Given the description of an element on the screen output the (x, y) to click on. 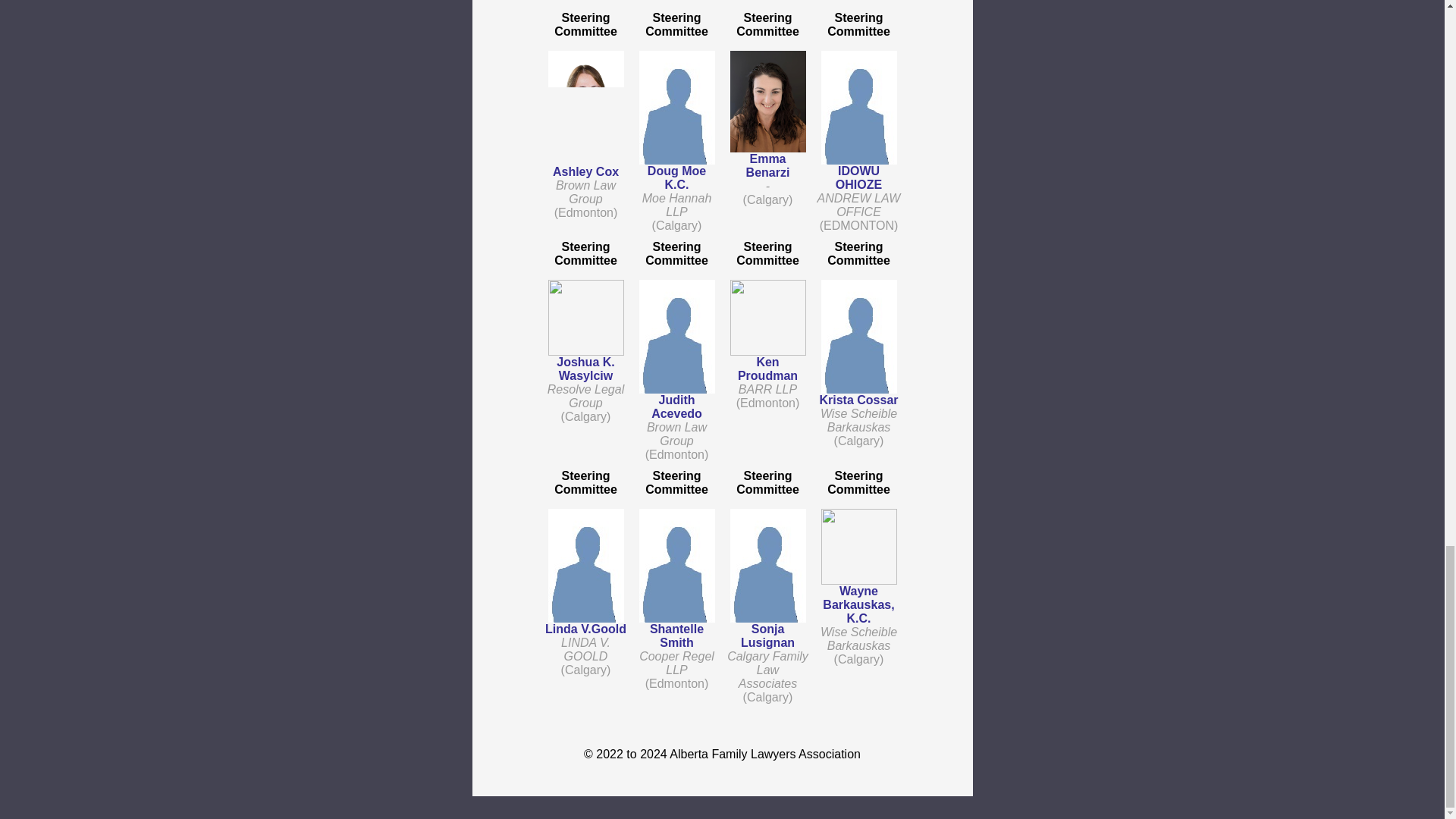
Judith Acevedo (675, 406)
IDOWU OHIOZE (858, 177)
Shantelle Smith (676, 635)
Sonja Lusignan (767, 635)
Ken Proudman (767, 368)
Ashley Cox (585, 171)
Emma Benarzi (767, 165)
Krista Cossar (858, 399)
Doug Moe K.C. (676, 177)
Joshua K. Wasylciw (585, 368)
Linda V.Goold (585, 628)
